Given the description of an element on the screen output the (x, y) to click on. 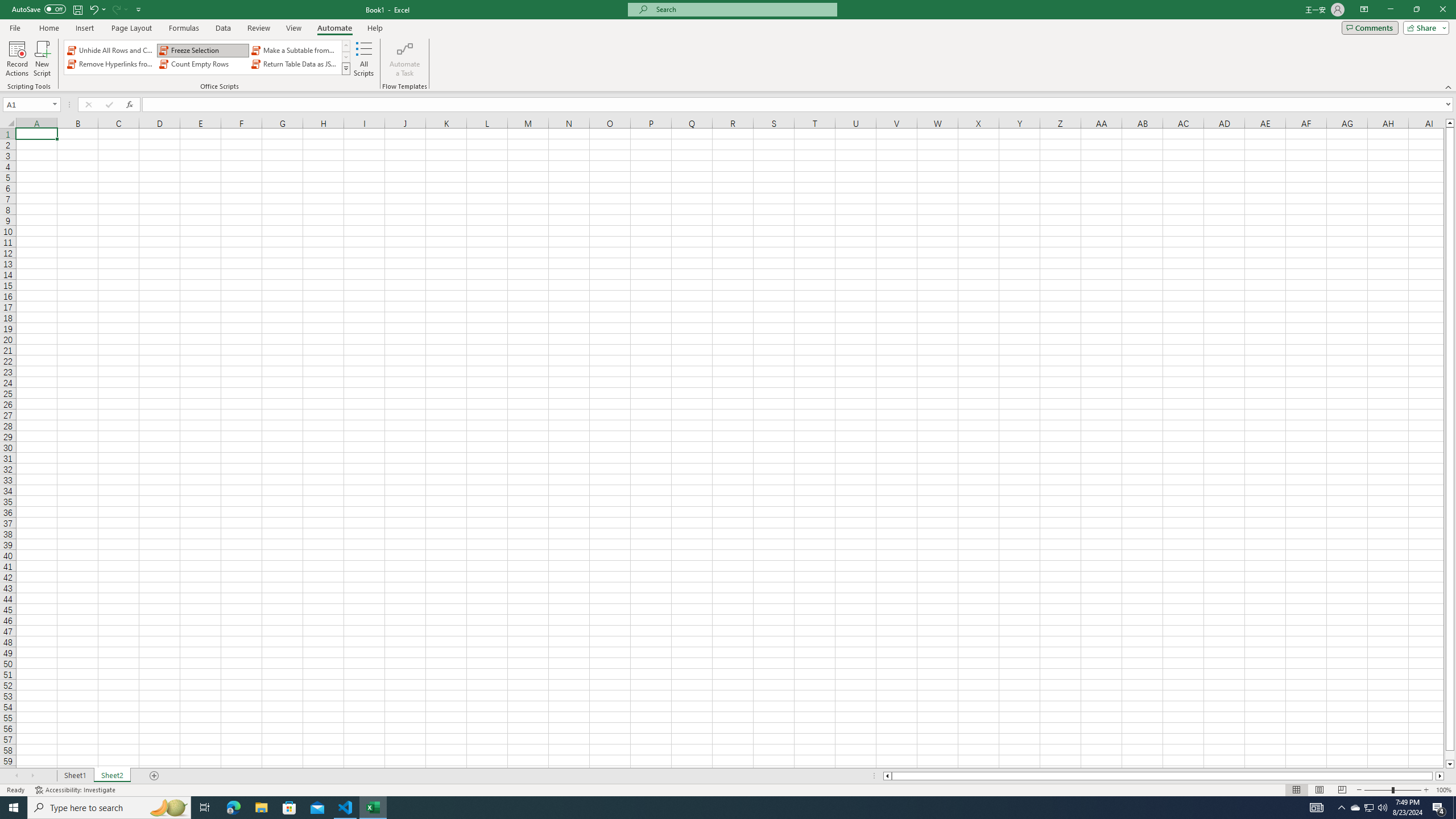
Zoom (1392, 790)
AutomationID: OfficeScriptsGallery (207, 57)
Microsoft search (742, 9)
Class: NetUIScrollBar (1163, 775)
Return Table Data as JSON (294, 64)
Line up (1449, 122)
File Tab (15, 27)
Review (258, 28)
Sheet2 (112, 775)
All Scripts (363, 58)
Quick Access Toolbar (77, 9)
